Given the description of an element on the screen output the (x, y) to click on. 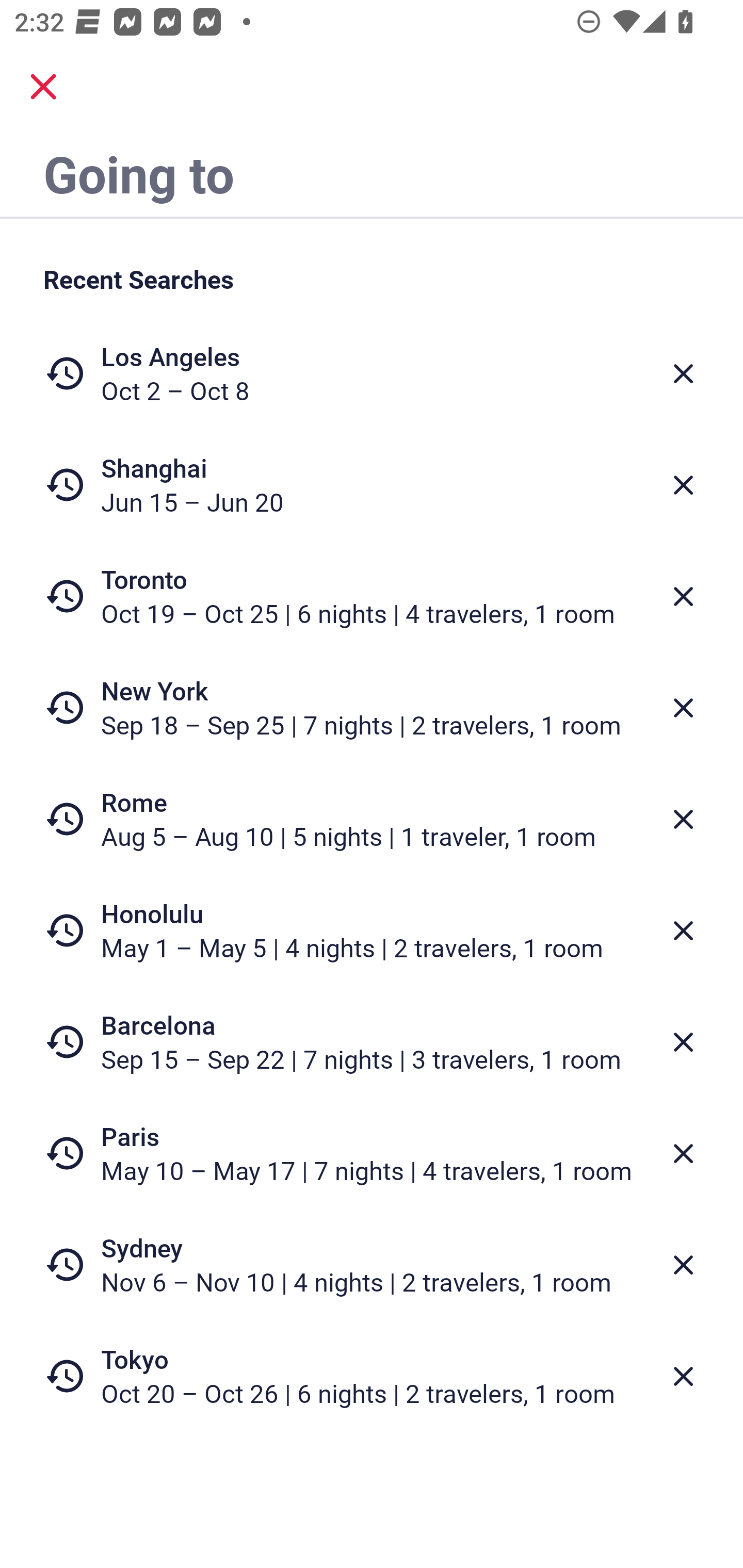
close. (43, 86)
Los Angeles Oct 2 – Oct 8 (371, 373)
Delete from recent searches (683, 373)
Shanghai Jun 15 – Jun 20 (371, 484)
Delete from recent searches (683, 485)
Delete from recent searches (683, 596)
Delete from recent searches (683, 707)
Delete from recent searches (683, 819)
Delete from recent searches (683, 930)
Delete from recent searches (683, 1041)
Delete from recent searches (683, 1153)
Delete from recent searches (683, 1265)
Delete from recent searches (683, 1376)
